Given the description of an element on the screen output the (x, y) to click on. 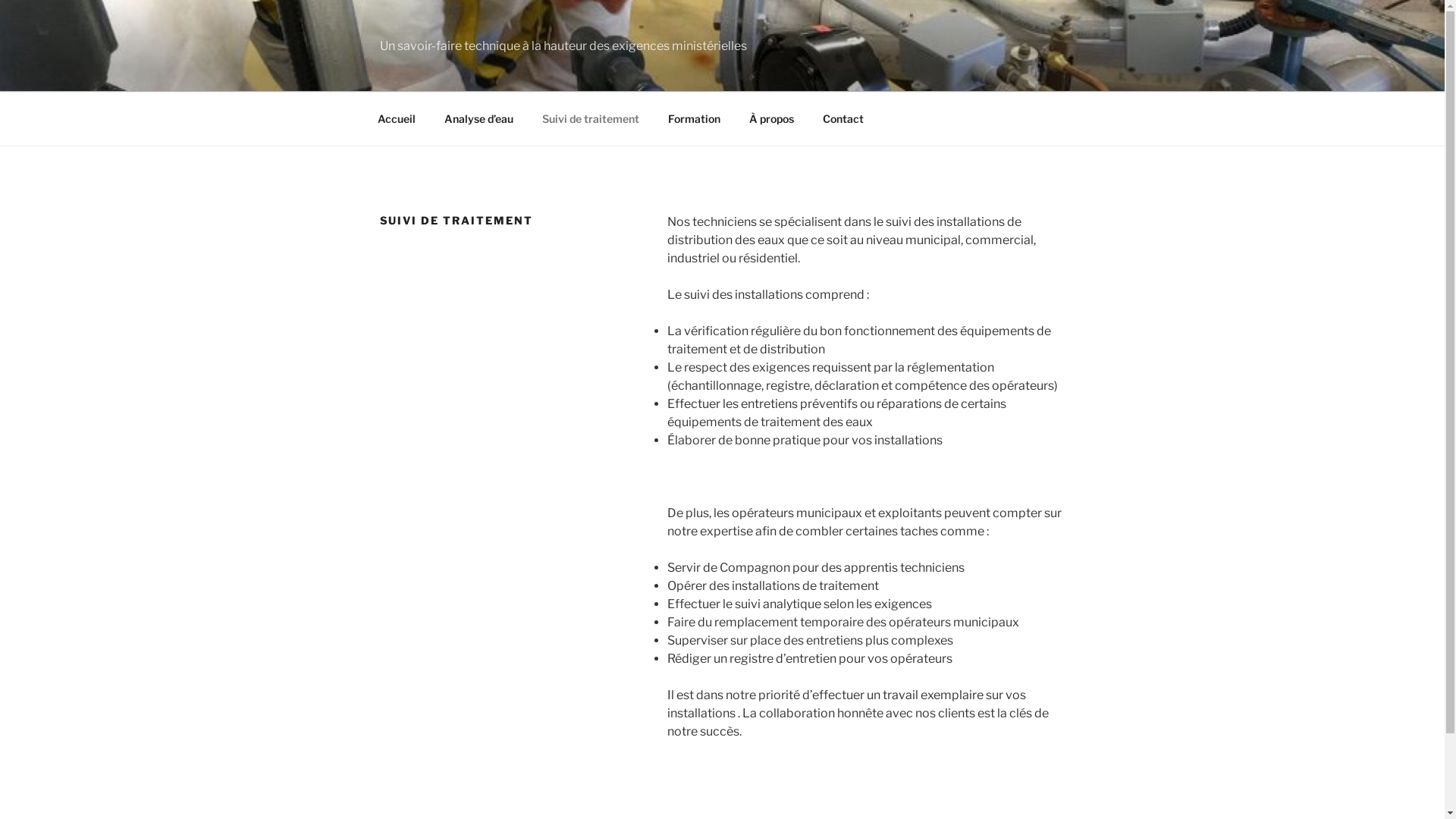
Formation Element type: text (694, 118)
Aller au contenu principal Element type: text (0, 0)
Suivi de traitement Element type: text (590, 118)
Accueil Element type: text (396, 118)
Contact Element type: text (843, 118)
